Given the description of an element on the screen output the (x, y) to click on. 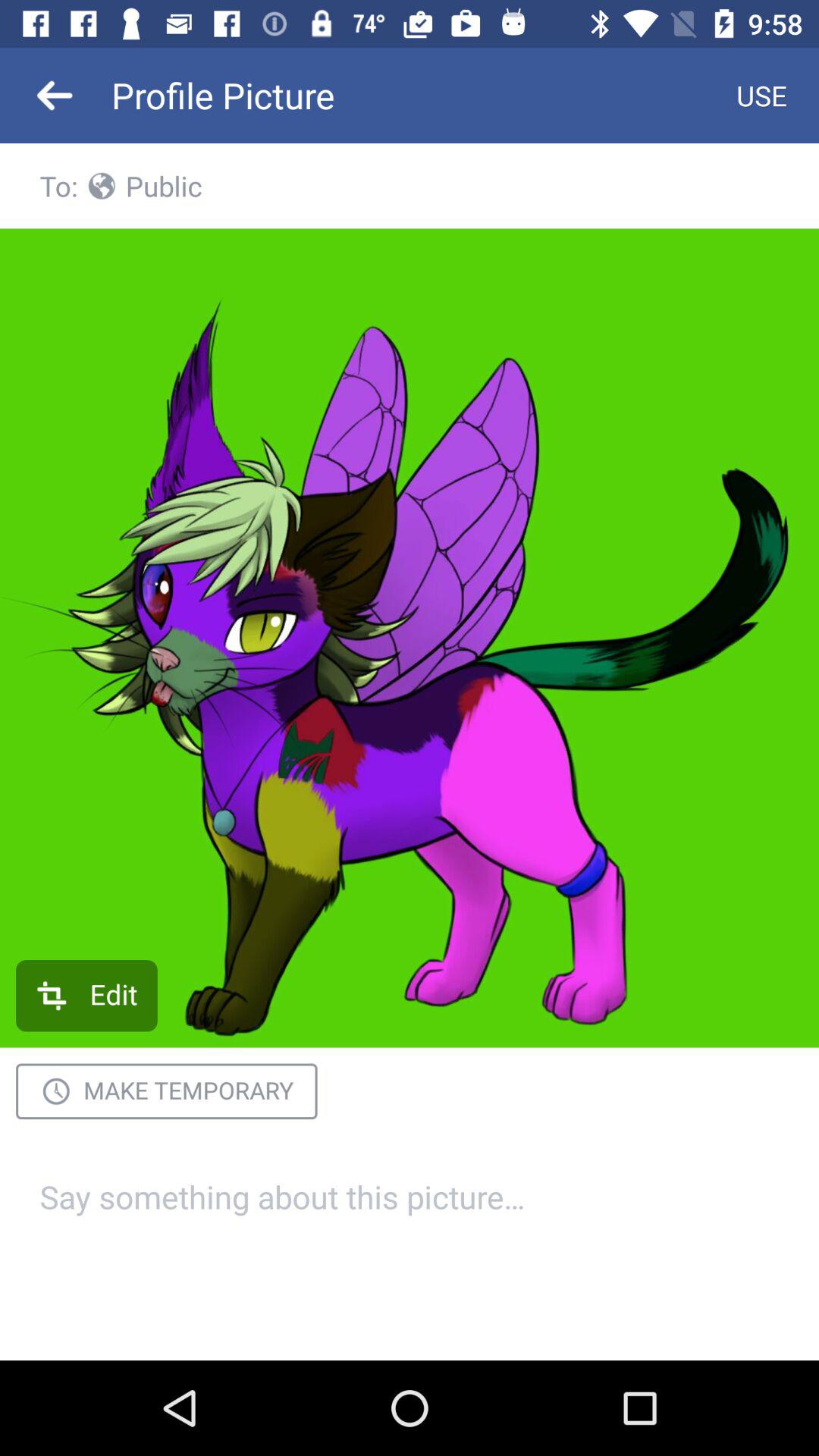
turn on the icon above to: (55, 95)
